Given the description of an element on the screen output the (x, y) to click on. 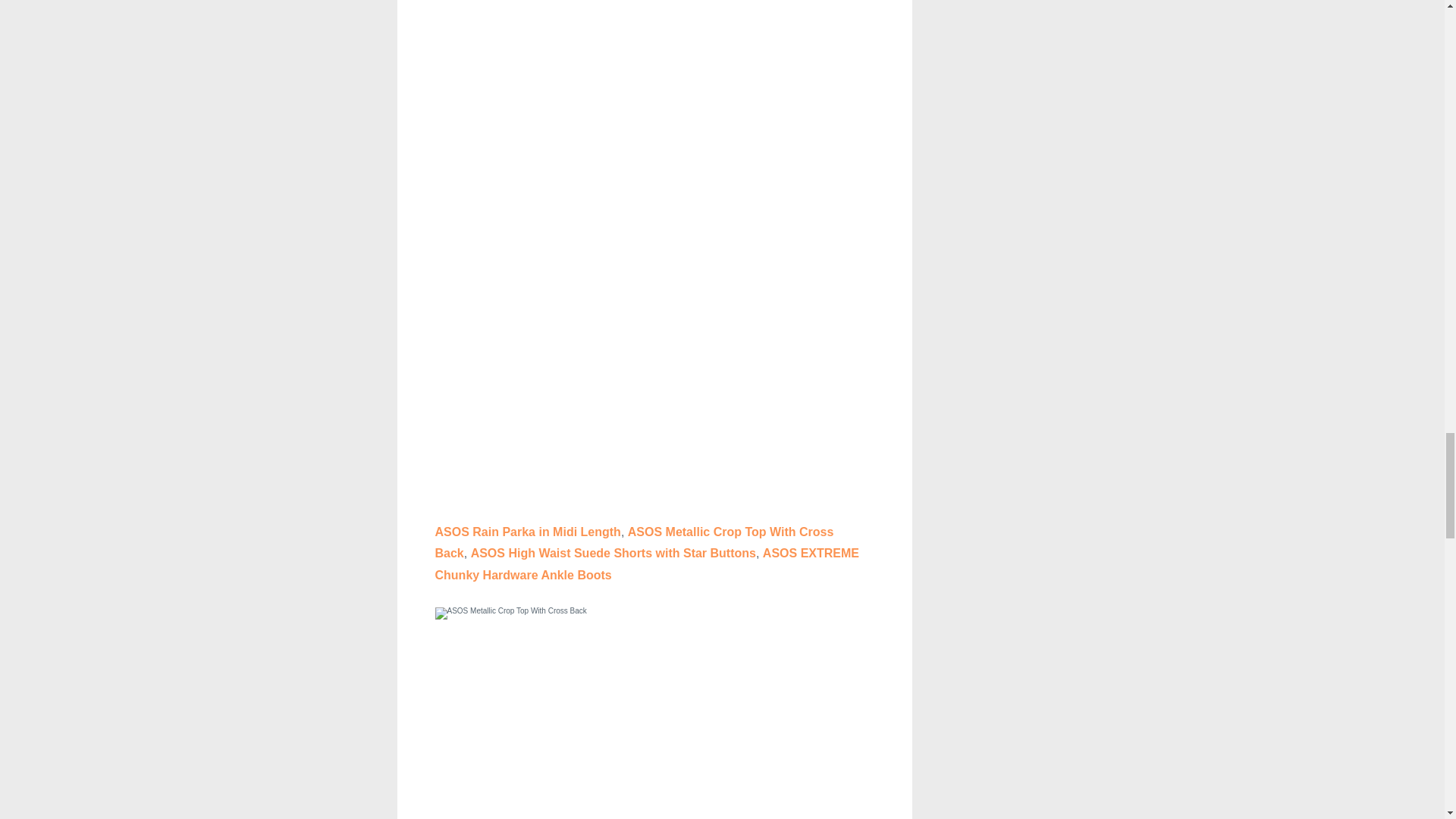
ASOS Metallic Crop Top With Cross Back (634, 542)
ASOS Rain Parka in Midi Length (528, 531)
ASOS High Waist Suede Shorts with Star Buttons (612, 553)
